Given the description of an element on the screen output the (x, y) to click on. 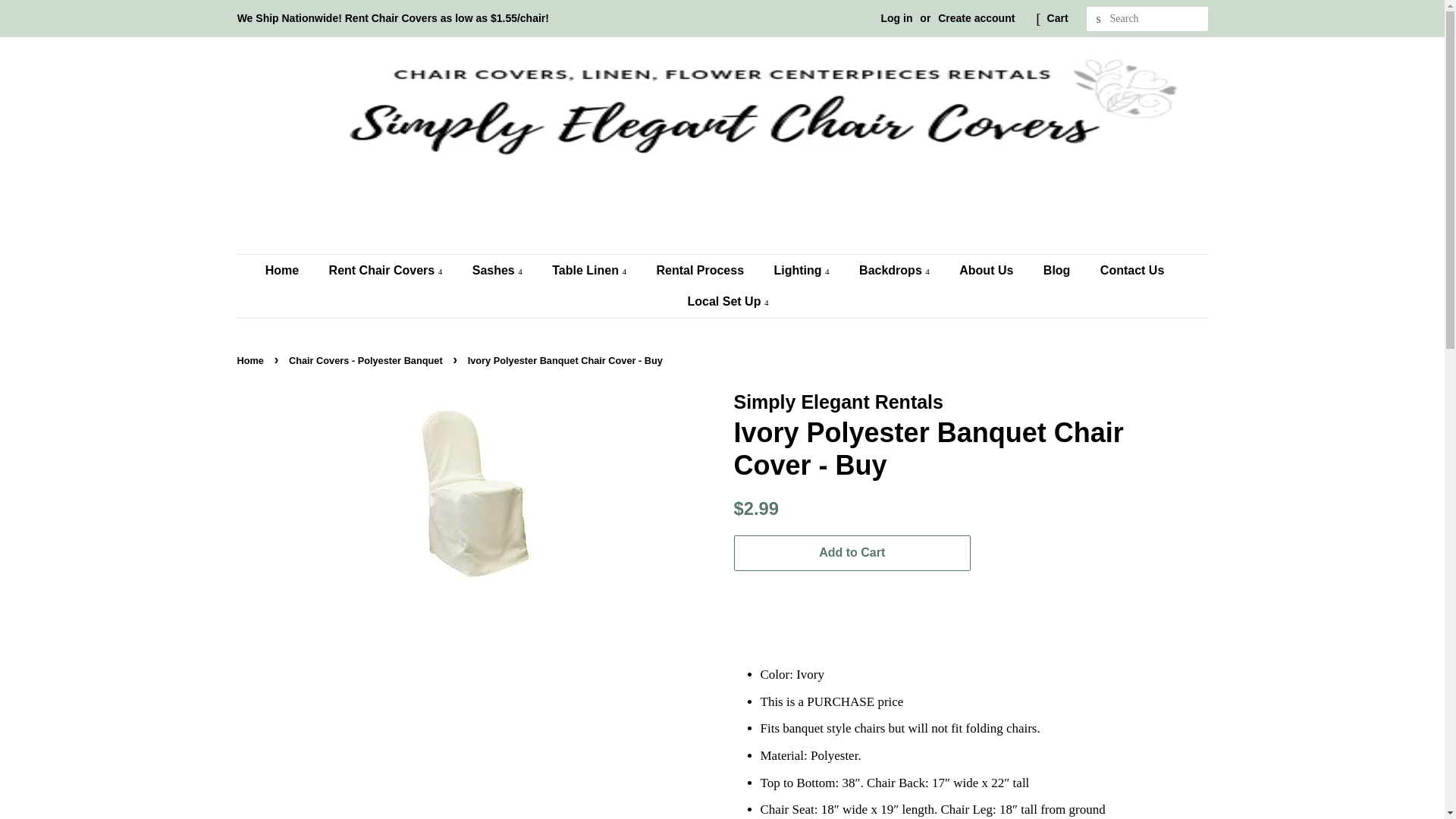
Back to the frontpage (250, 360)
Search (1097, 18)
Create account (975, 18)
Cart (1057, 18)
Log in (896, 18)
